Given the description of an element on the screen output the (x, y) to click on. 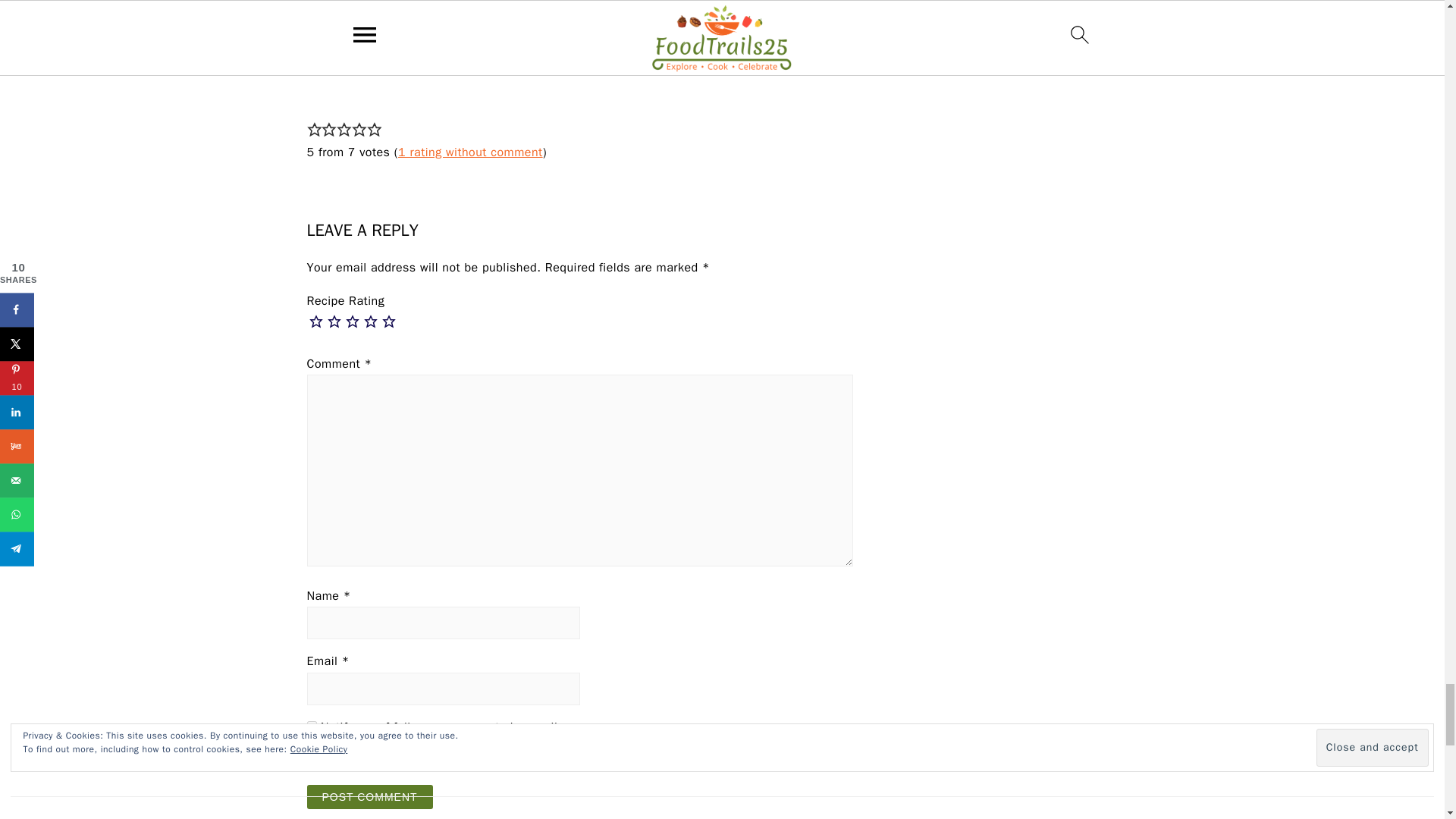
Post Comment (368, 796)
subscribe (310, 759)
subscribe (310, 726)
